Given the description of an element on the screen output the (x, y) to click on. 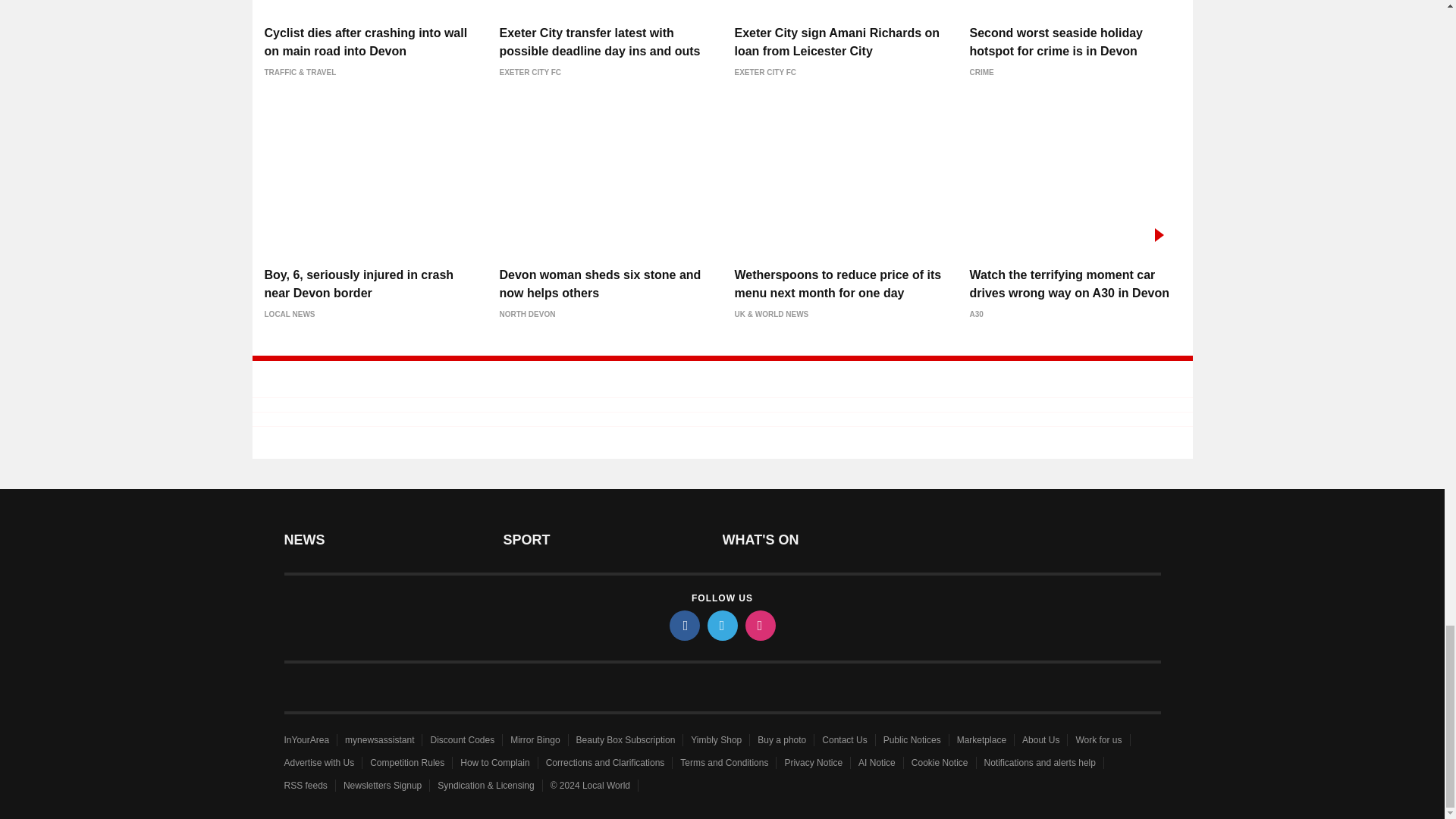
facebook (683, 625)
instagram (759, 625)
twitter (721, 625)
